Given the description of an element on the screen output the (x, y) to click on. 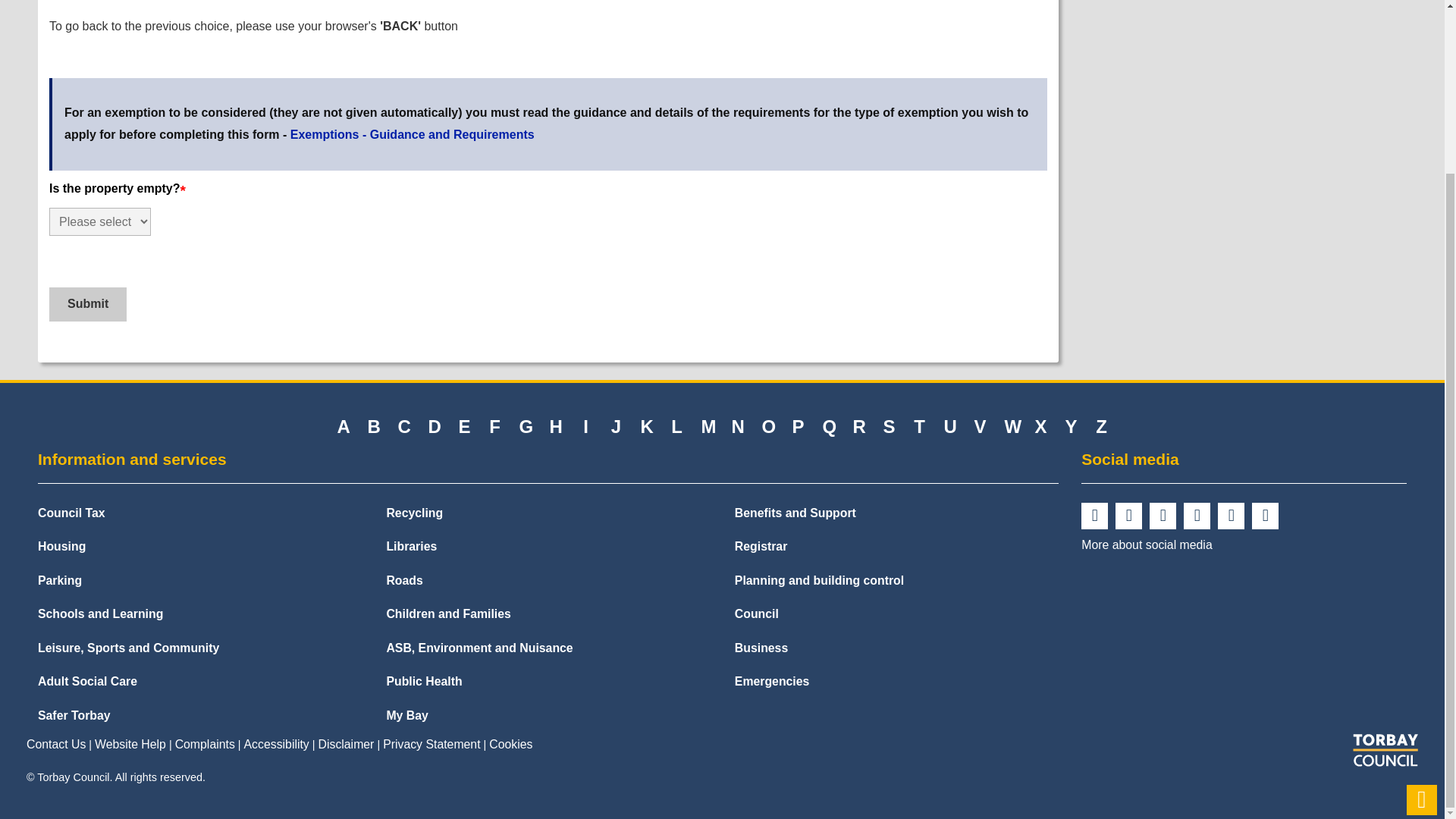
Council Tax (70, 513)
Submit (87, 304)
Exemptions - Guidance and Requirements (411, 133)
Recycling (413, 513)
Submit (87, 304)
